Given the description of an element on the screen output the (x, y) to click on. 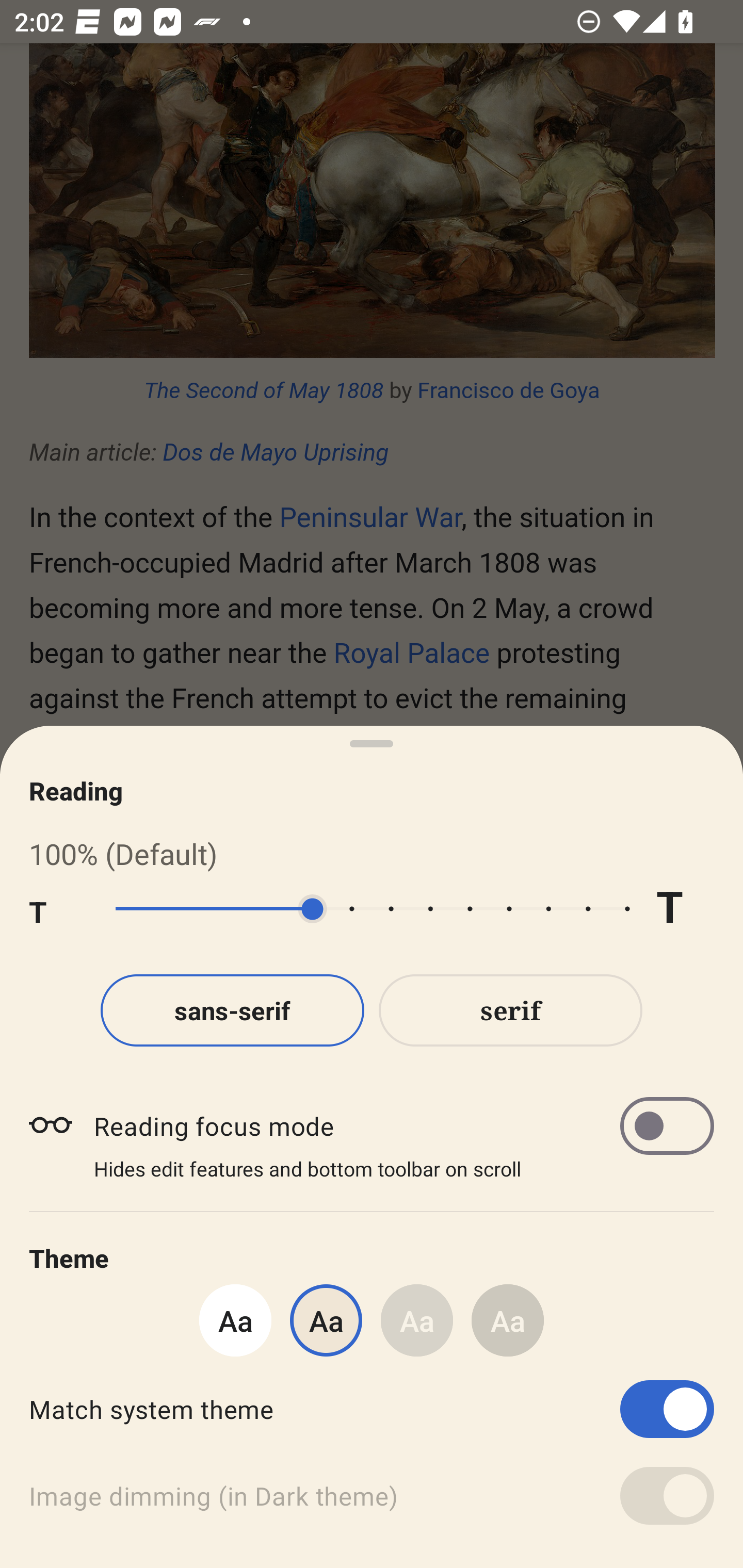
T Decrease text size (57, 909)
T Increase text size (685, 909)
sans-serif (232, 1010)
serif (510, 1010)
Aa (235, 1320)
Aa (416, 1320)
Aa (507, 1320)
Match system theme (371, 1408)
Image dimming (in Dark theme) (371, 1495)
